Given the description of an element on the screen output the (x, y) to click on. 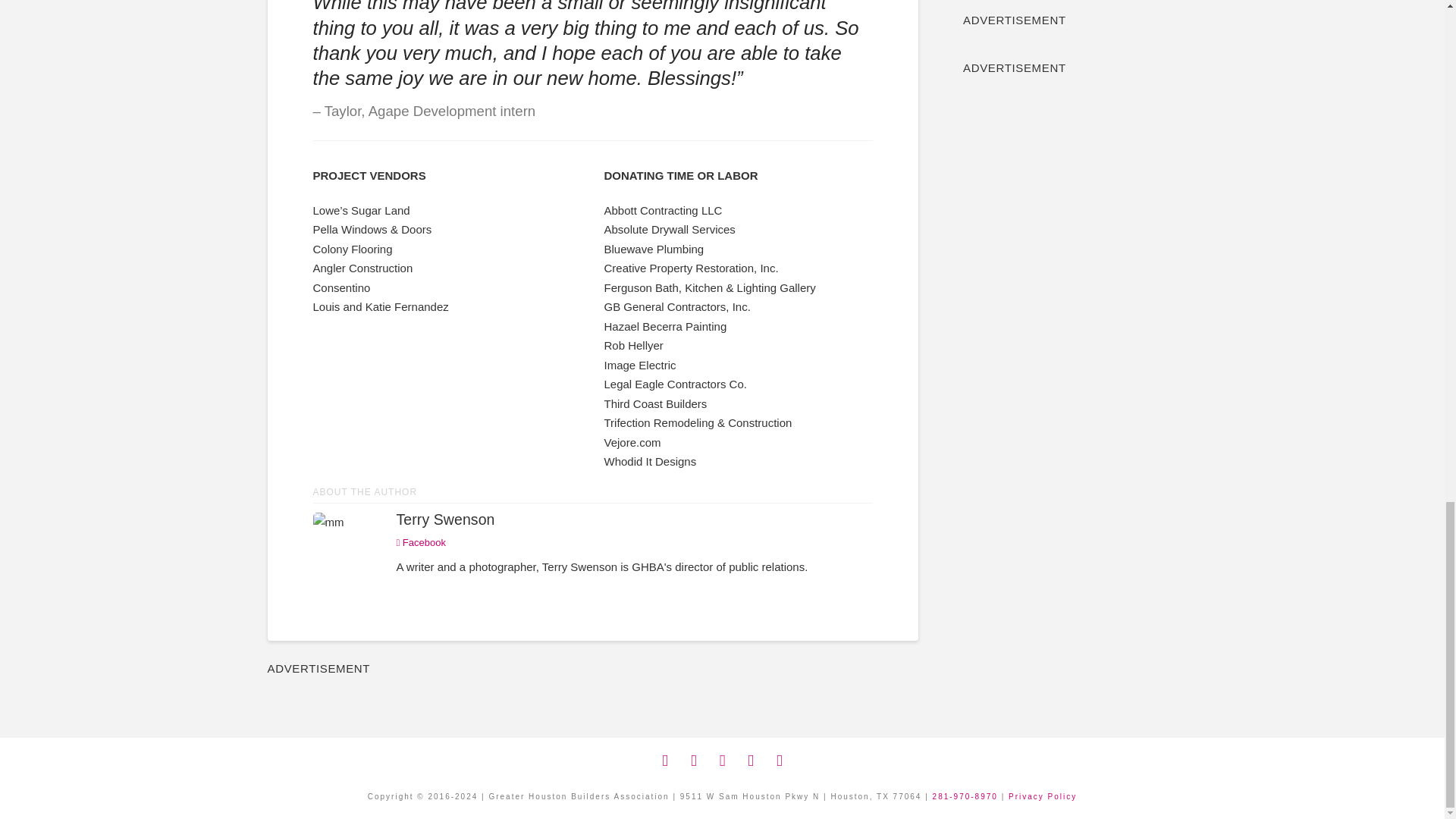
Visit the Facebook Profile for Terry Swenson (420, 542)
